Given the description of an element on the screen output the (x, y) to click on. 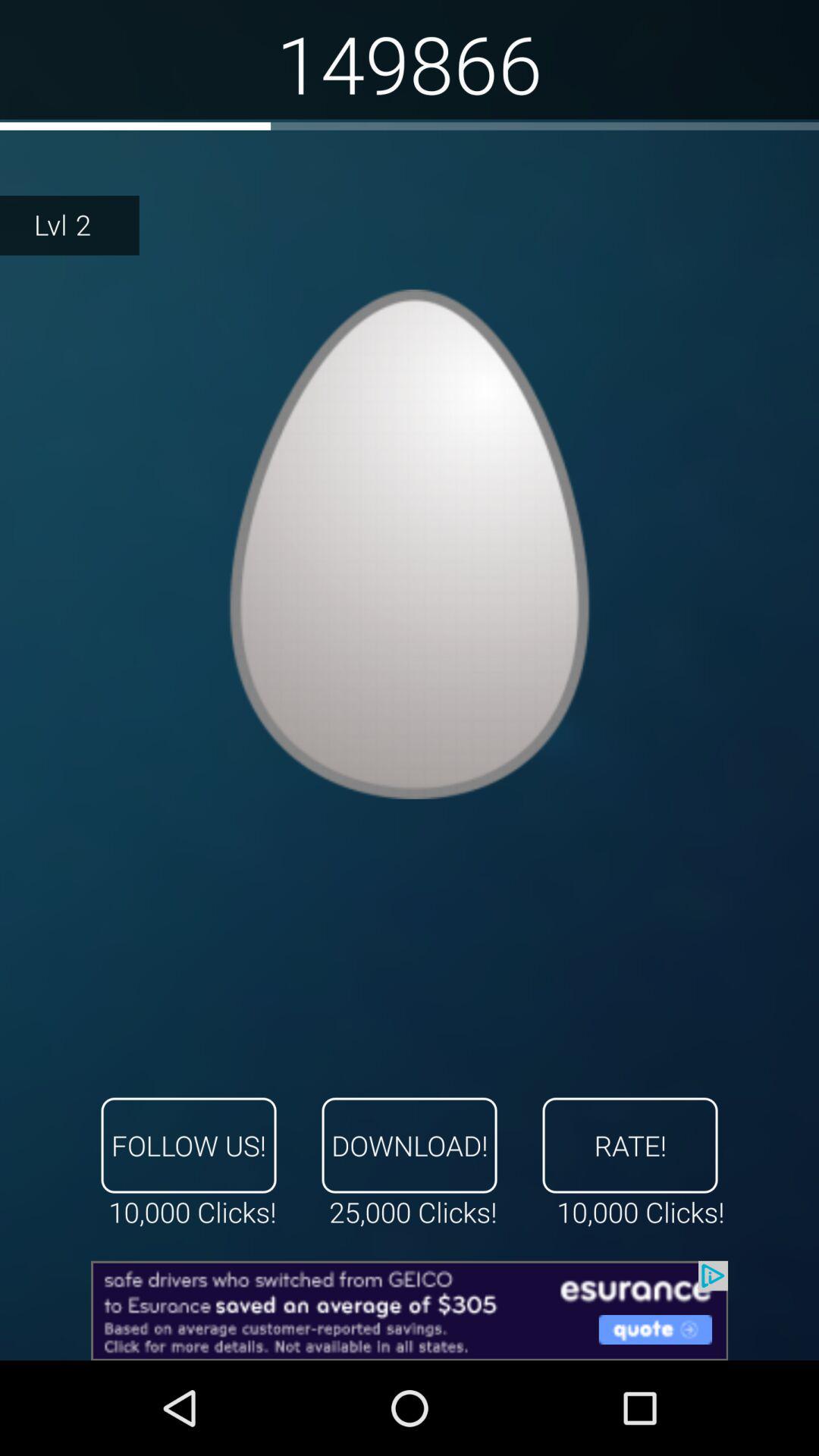
advertising (409, 1310)
